Given the description of an element on the screen output the (x, y) to click on. 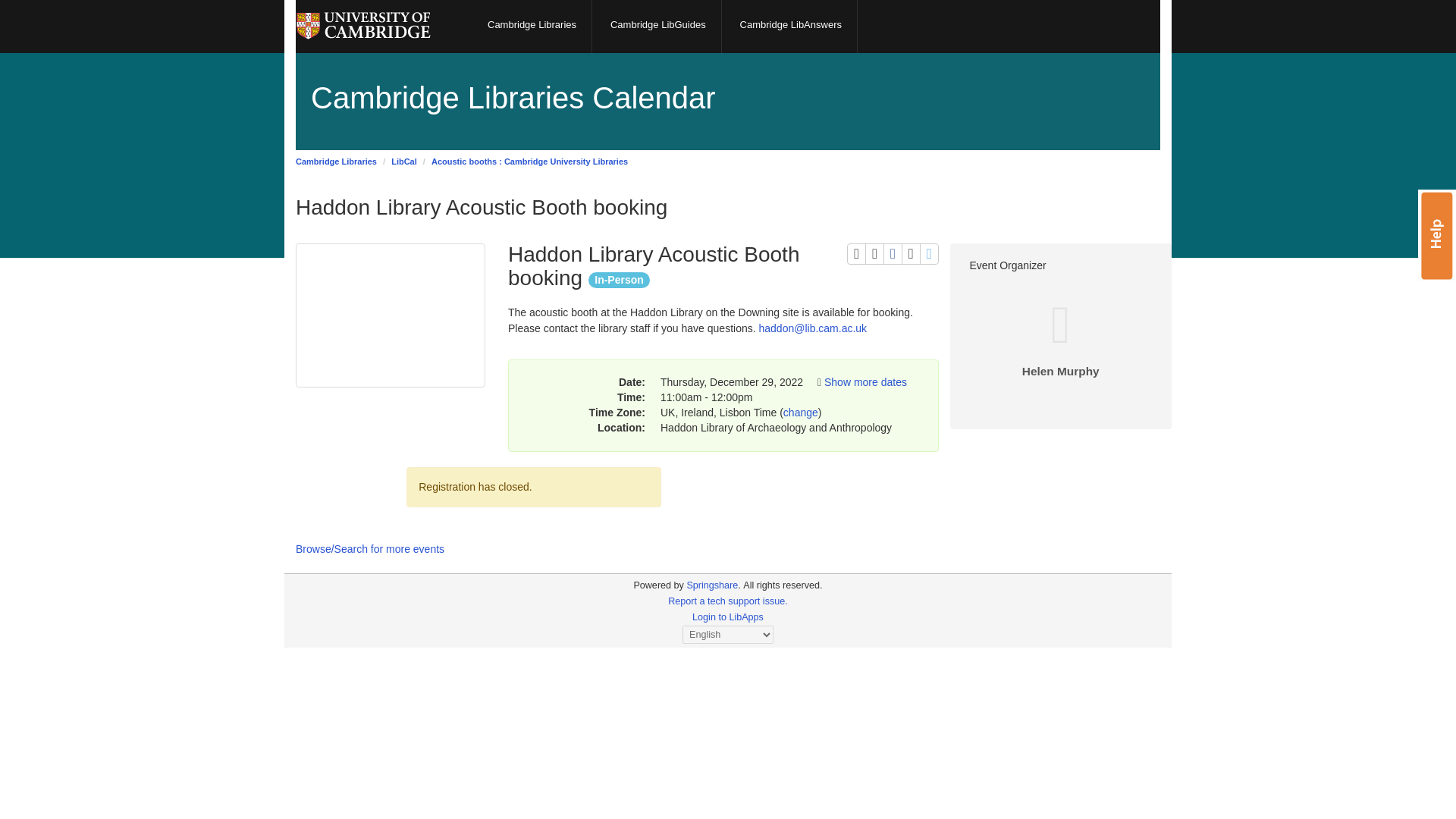
Show more dates (865, 381)
Print the page (856, 253)
Cambridge LibAnswers (791, 26)
libcal-eu-2 (658, 584)
Cambridge LibGuides (658, 26)
Report a tech support issue. (727, 601)
No Profile image (1060, 338)
Cambridge Libraries (531, 26)
Add to a Calendar using iCal (873, 253)
Login to LibApps (727, 616)
change (800, 412)
Acoustic booths : Cambridge University Libraries (929, 253)
Springshare (528, 161)
